Given the description of an element on the screen output the (x, y) to click on. 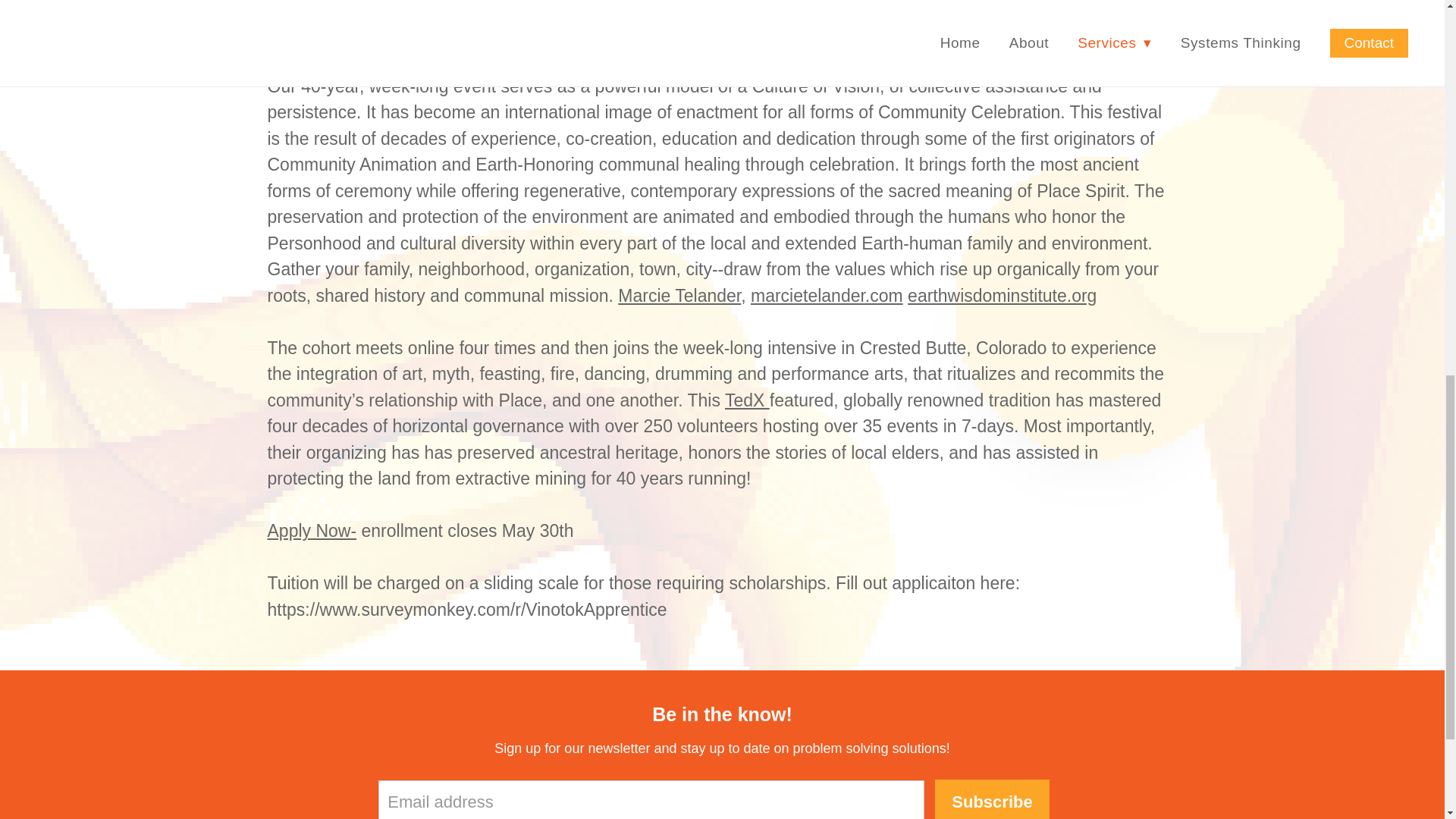
earthwisdominstitute.org (1001, 294)
TedX (747, 399)
Apply Now- (311, 530)
Subscribe (991, 799)
marcietelander.com (826, 294)
Marcie Telander (679, 294)
